Given the description of an element on the screen output the (x, y) to click on. 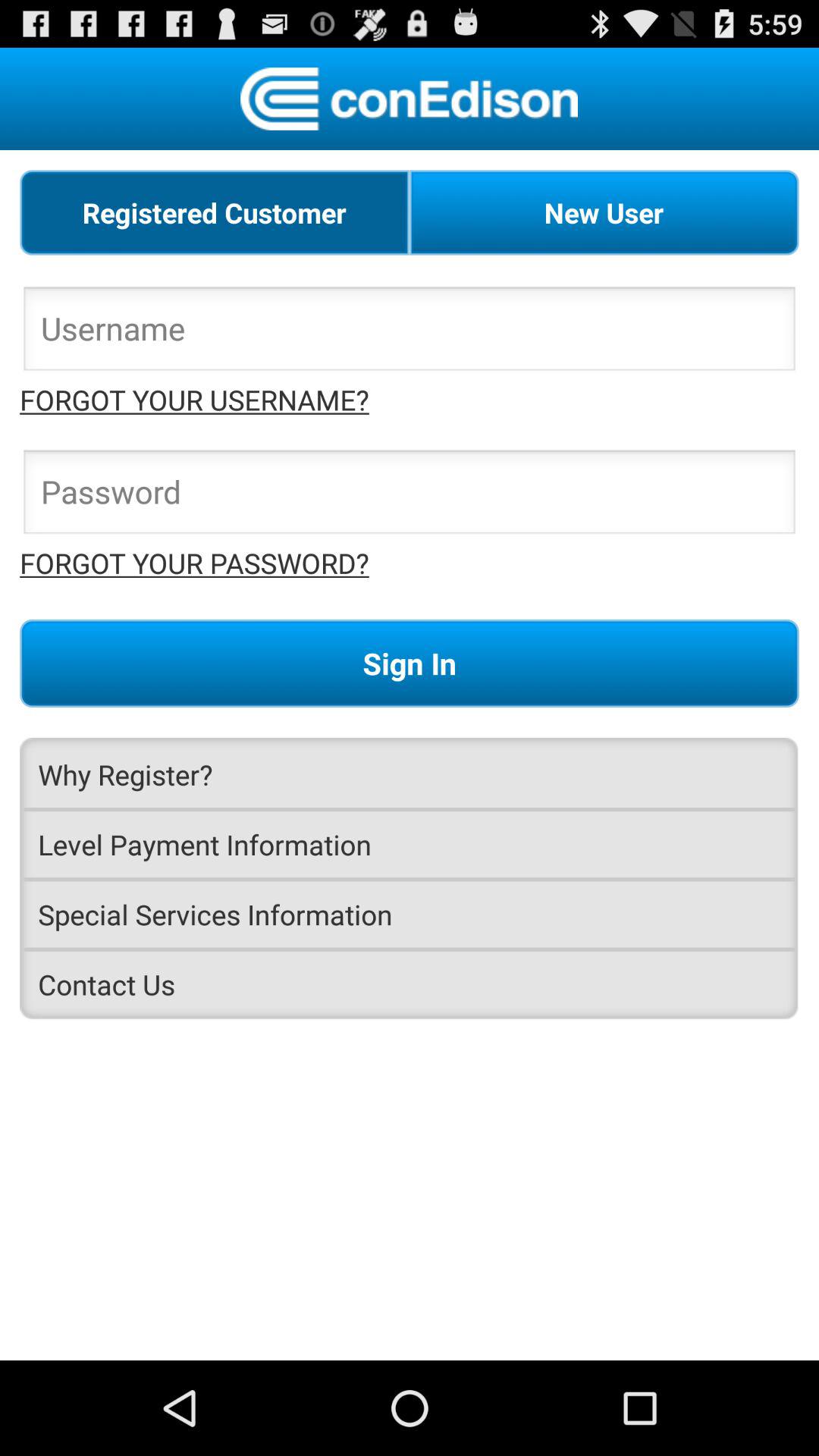
turn off the new user at the top right corner (604, 212)
